Given the description of an element on the screen output the (x, y) to click on. 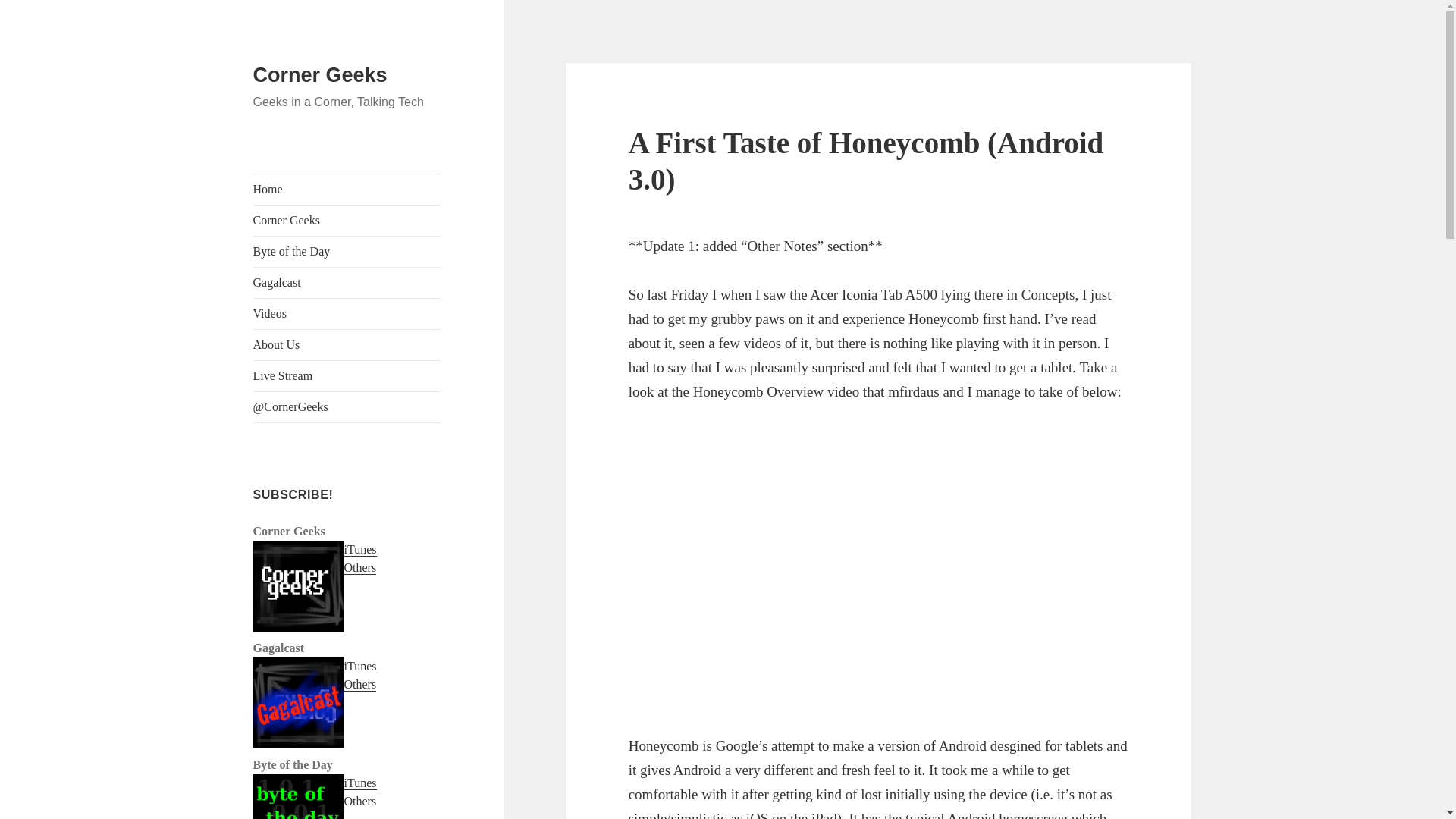
Others (360, 801)
iTunes (360, 783)
About Us (347, 345)
Home (347, 189)
iTunes (360, 549)
Byte of the Day (347, 251)
iTunes (360, 666)
Corner Geeks (347, 220)
Gagalcast (347, 282)
Corner Geeks (320, 74)
Live Stream (347, 376)
Others (360, 567)
Others (360, 684)
Videos (347, 313)
